Given the description of an element on the screen output the (x, y) to click on. 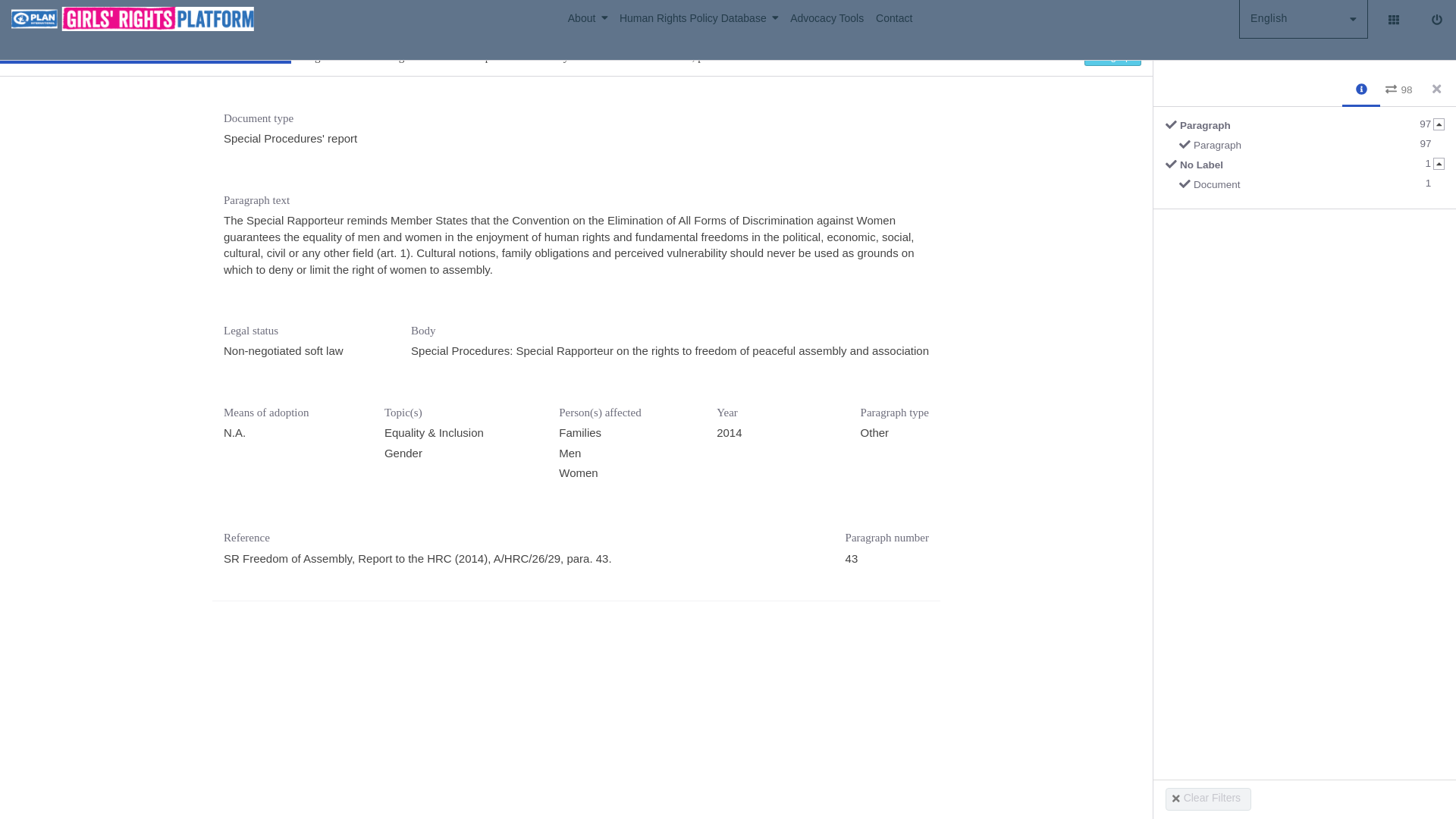
Contact (893, 18)
Paragraph (1310, 148)
Document (1303, 18)
Advocacy Tools (1310, 187)
About  (832, 18)
Human Rights Policy Database  (593, 18)
